Given the description of an element on the screen output the (x, y) to click on. 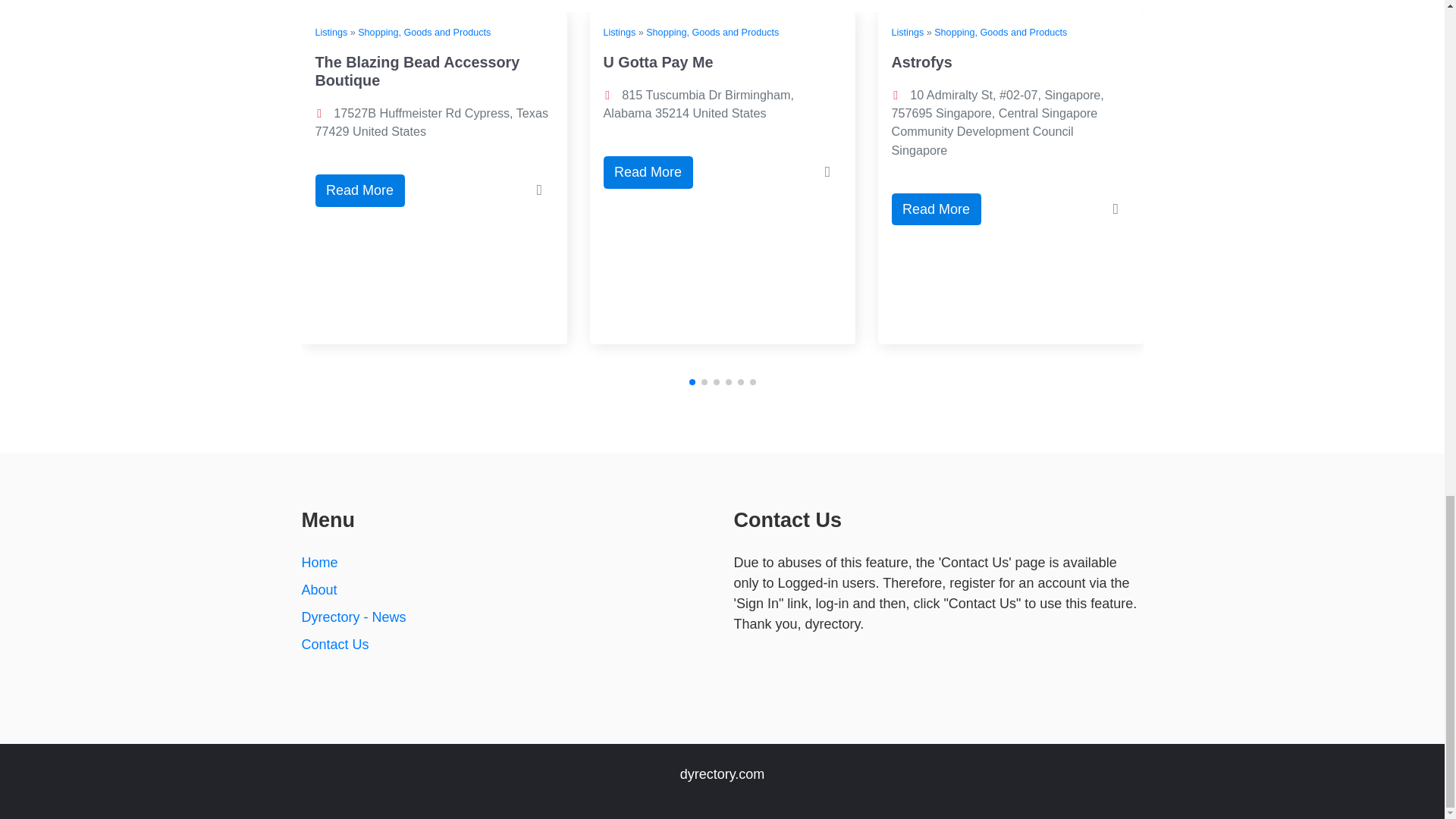
Listings (620, 32)
The Blazing Bead Accessory Boutique (417, 71)
Read More (359, 190)
Shopping, Goods and Products (424, 32)
Read More (936, 209)
U Gotta Pay Me (658, 62)
Astrofys (921, 62)
Listings (907, 32)
Shopping, Goods and Products (1000, 32)
Shopping, Goods and Products (712, 32)
